Given the description of an element on the screen output the (x, y) to click on. 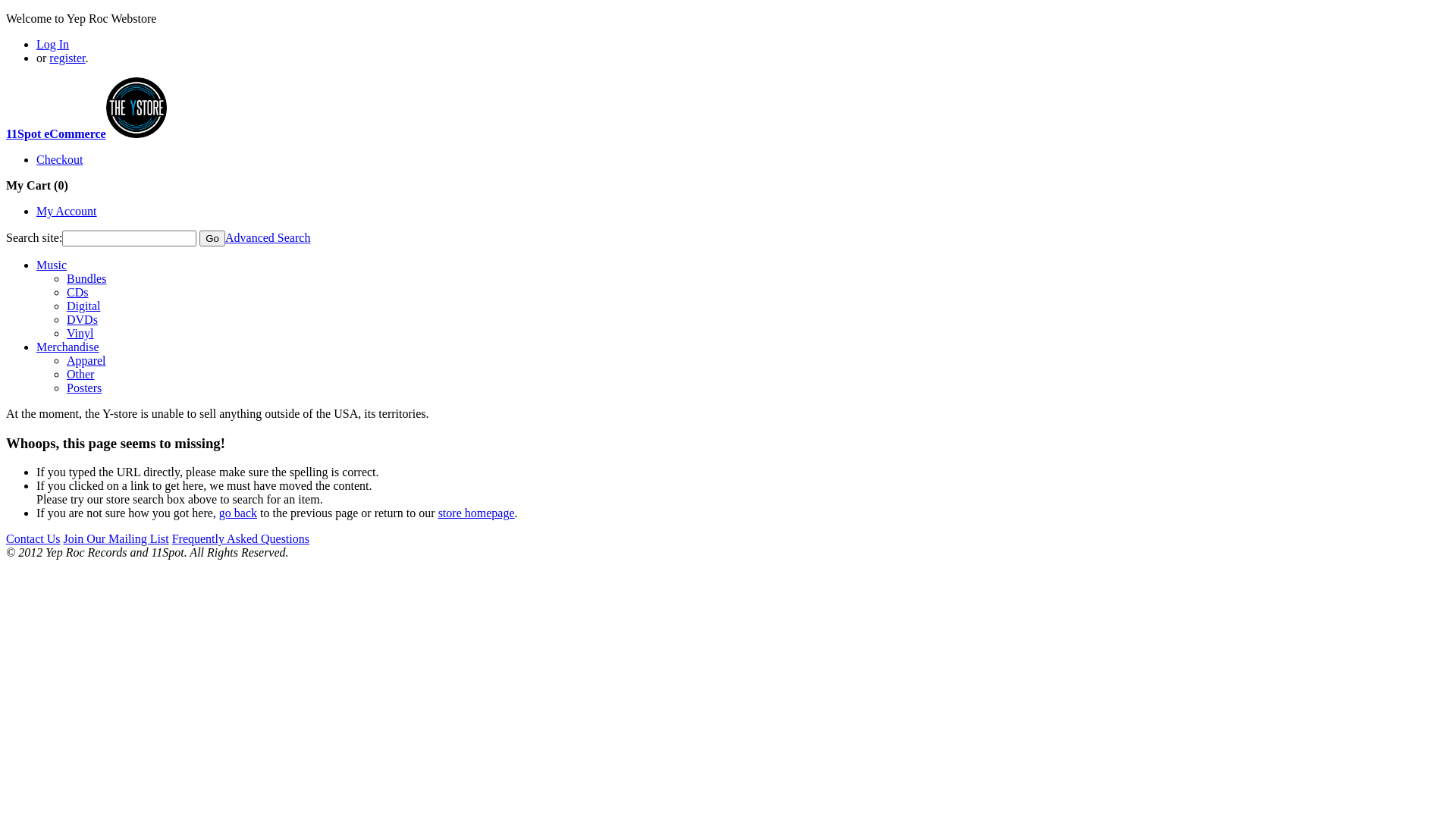
Posters Element type: text (83, 387)
Vinyl Element type: text (79, 332)
Other Element type: text (80, 373)
11Spot eCommerce Element type: text (86, 133)
DVDs Element type: text (81, 319)
Go Element type: text (212, 238)
Bundles Element type: text (86, 278)
Frequently Asked Questions Element type: text (240, 538)
Log In Element type: text (52, 43)
My Account Element type: text (66, 210)
Merchandise Element type: text (67, 346)
store homepage Element type: text (476, 512)
Checkout Element type: text (59, 159)
CDs Element type: text (76, 291)
Digital Element type: text (83, 305)
Music Element type: text (51, 264)
register Element type: text (66, 57)
Advanced Search Element type: text (267, 237)
Contact Us Element type: text (33, 538)
go back Element type: text (238, 512)
Apparel Element type: text (86, 360)
Join Our Mailing List Element type: text (116, 538)
